Given the description of an element on the screen output the (x, y) to click on. 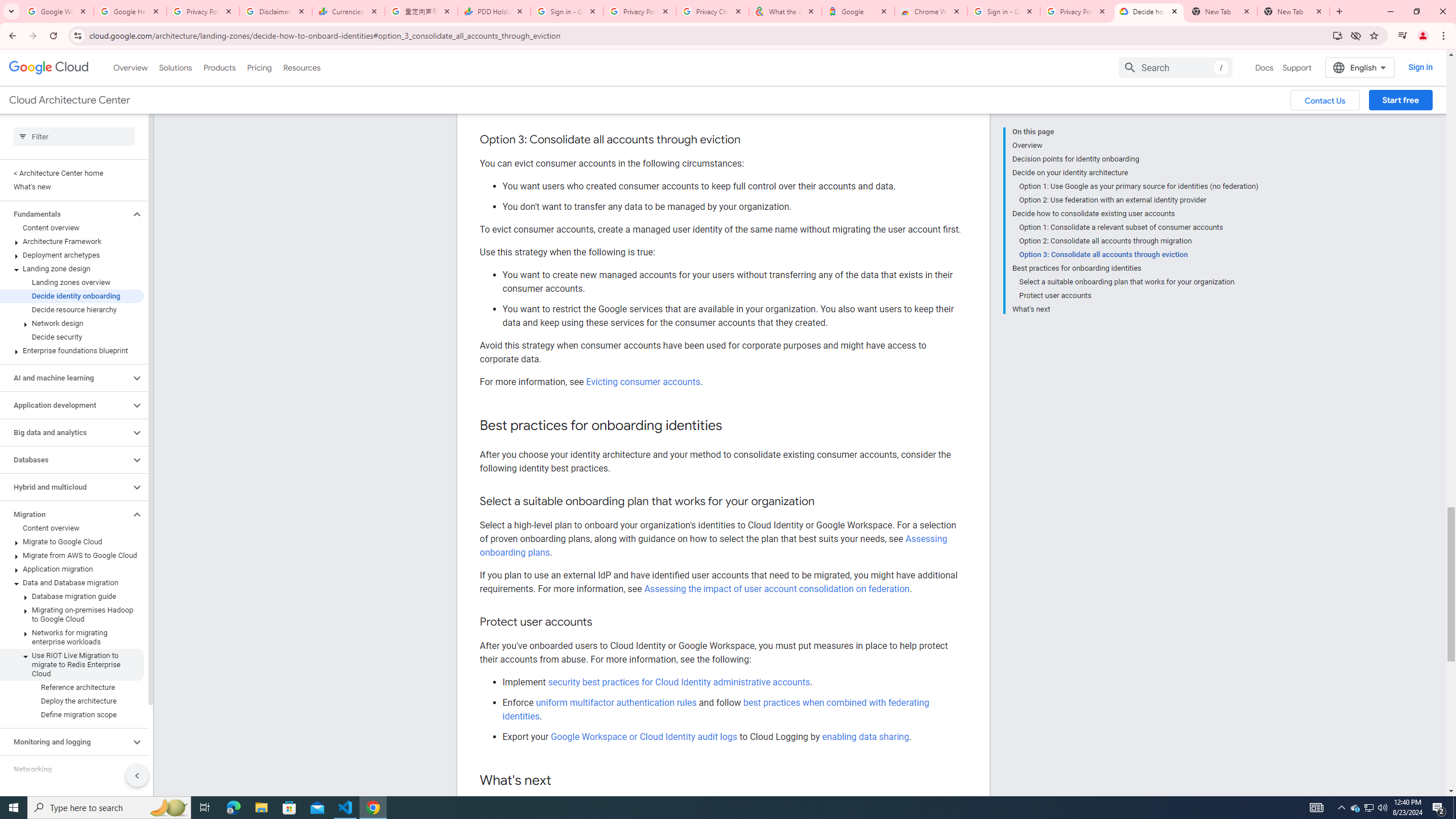
Decide identity onboarding (72, 296)
Best practices for onboarding identities (1134, 268)
Networking (64, 769)
Google Workspace or Cloud Identity audit logs (644, 736)
Contact Us (1324, 100)
Reliability and disaster recovery (64, 796)
Cloud Architecture Center (68, 100)
Landing zones overview (72, 282)
Database migration guide (72, 596)
Define migration scope (72, 714)
enabling data sharing (865, 736)
Type to filter (74, 136)
